Given the description of an element on the screen output the (x, y) to click on. 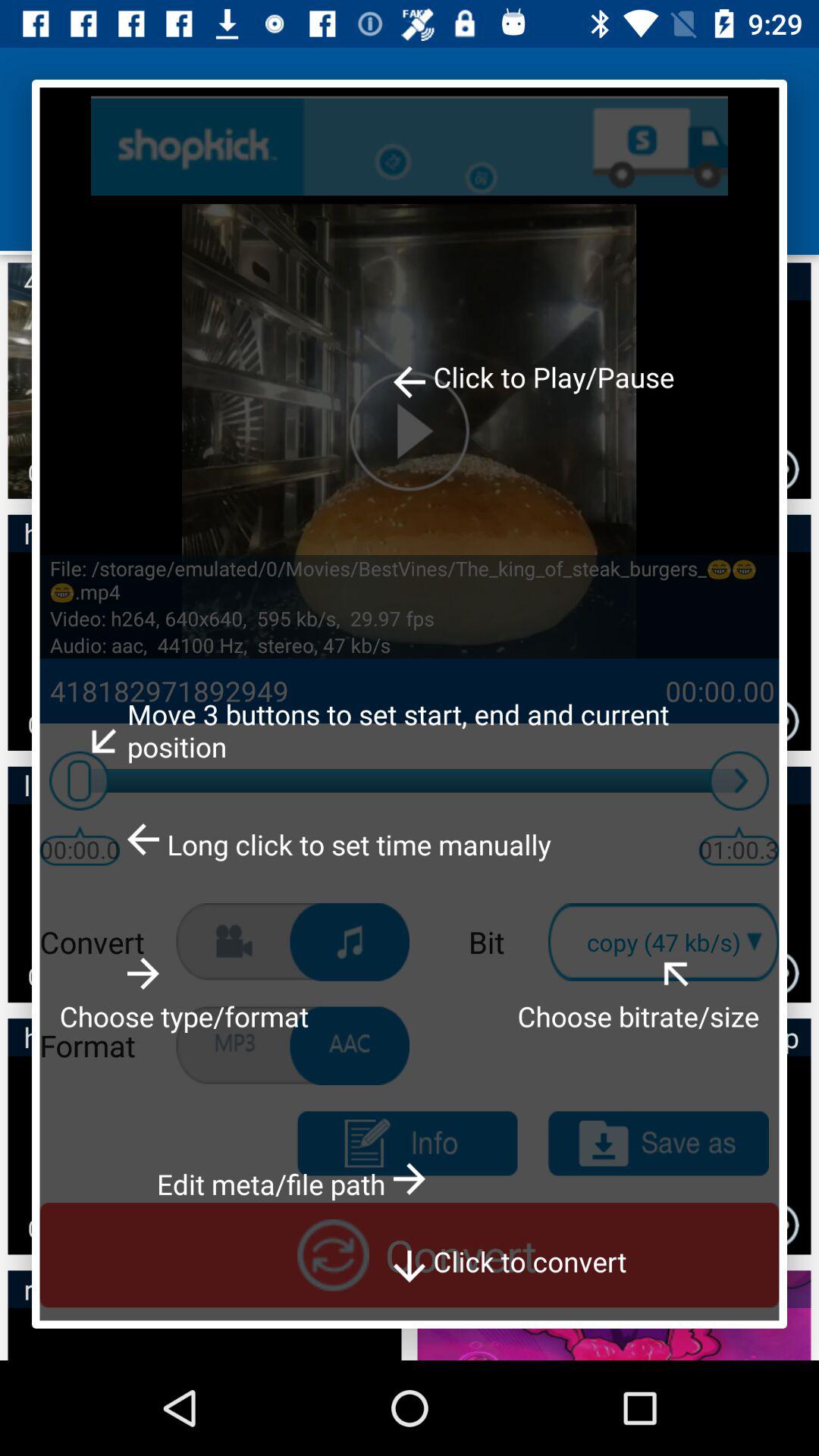
get information (406, 1143)
